Given the description of an element on the screen output the (x, y) to click on. 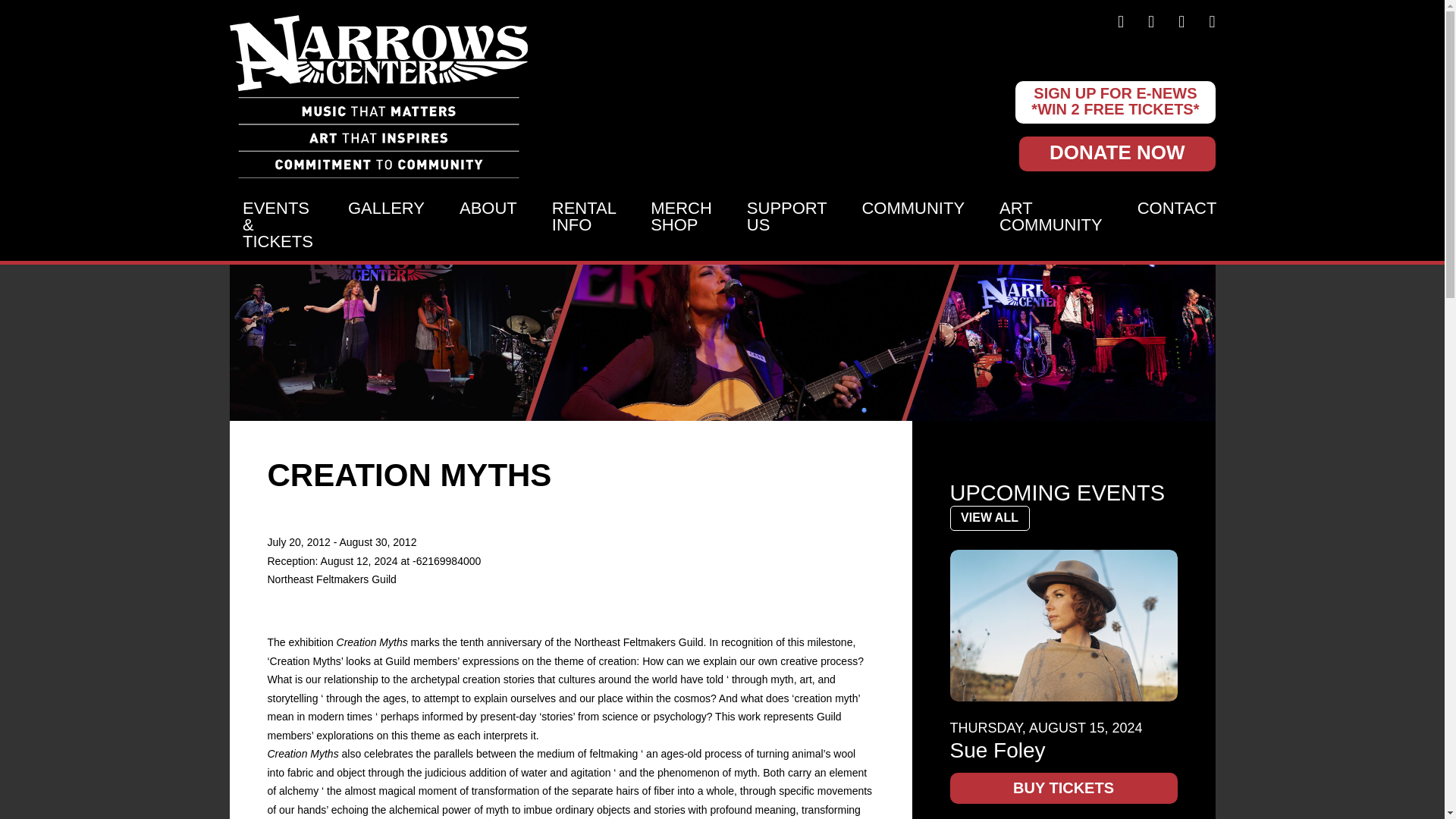
DONATE NOW (1117, 153)
RENTAL INFO (583, 226)
GALLERY (386, 226)
MERCH SHOP (681, 226)
ABOUT (488, 226)
